Given the description of an element on the screen output the (x, y) to click on. 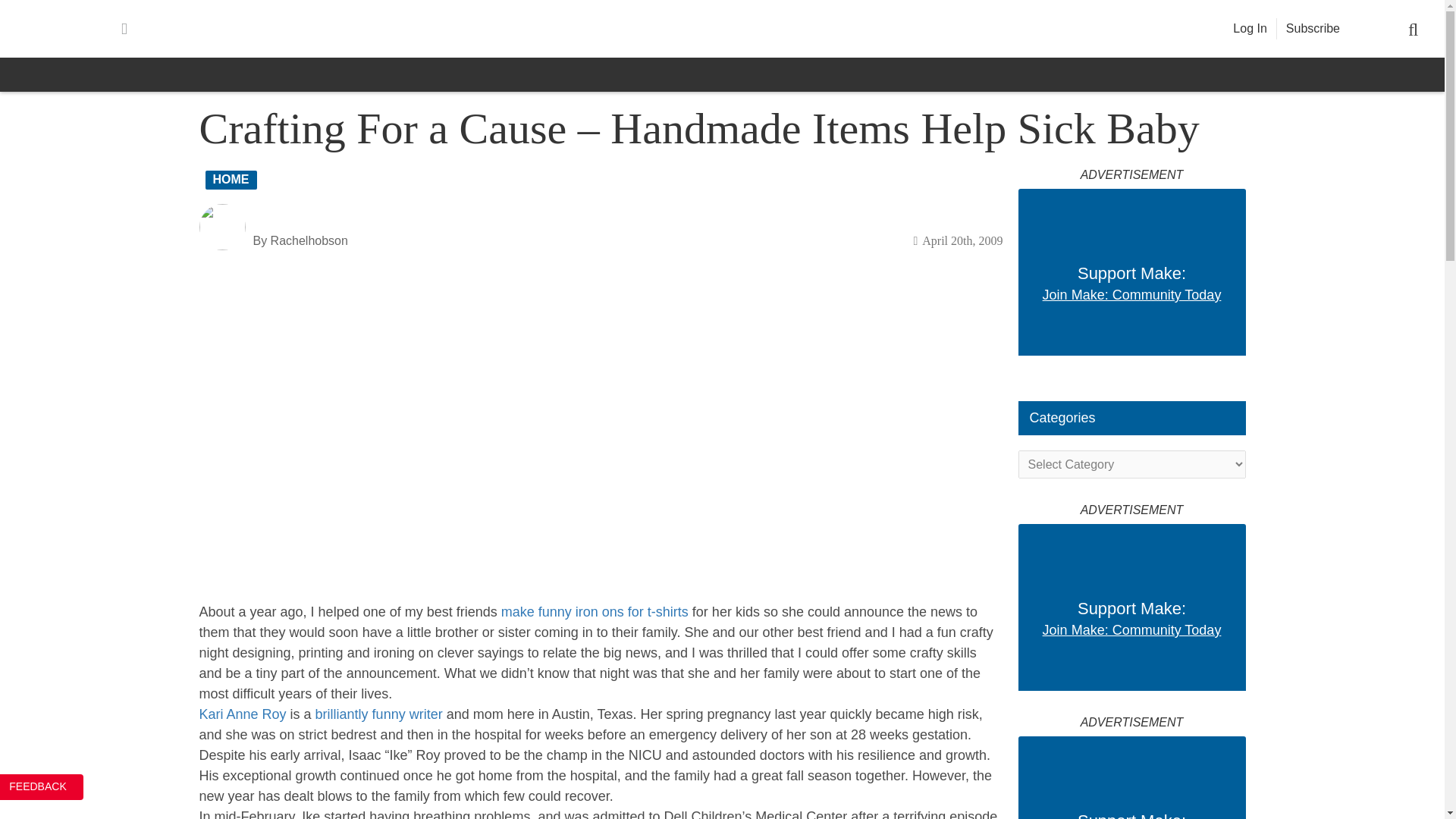
Log In (1249, 28)
